Given the description of an element on the screen output the (x, y) to click on. 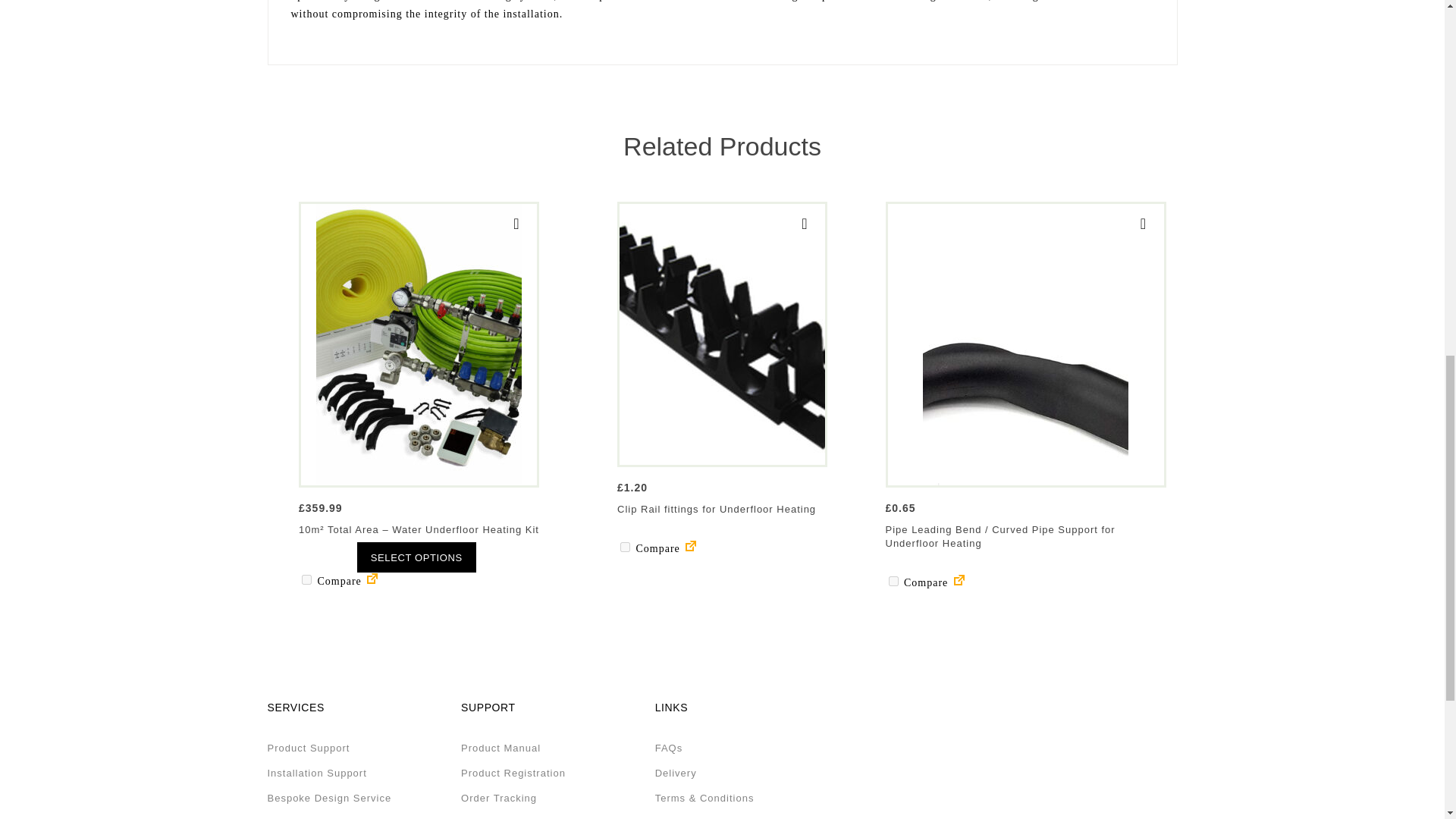
on (625, 547)
on (893, 581)
on (306, 579)
Compare Page (372, 581)
Compare Page (690, 548)
